Given the description of an element on the screen output the (x, y) to click on. 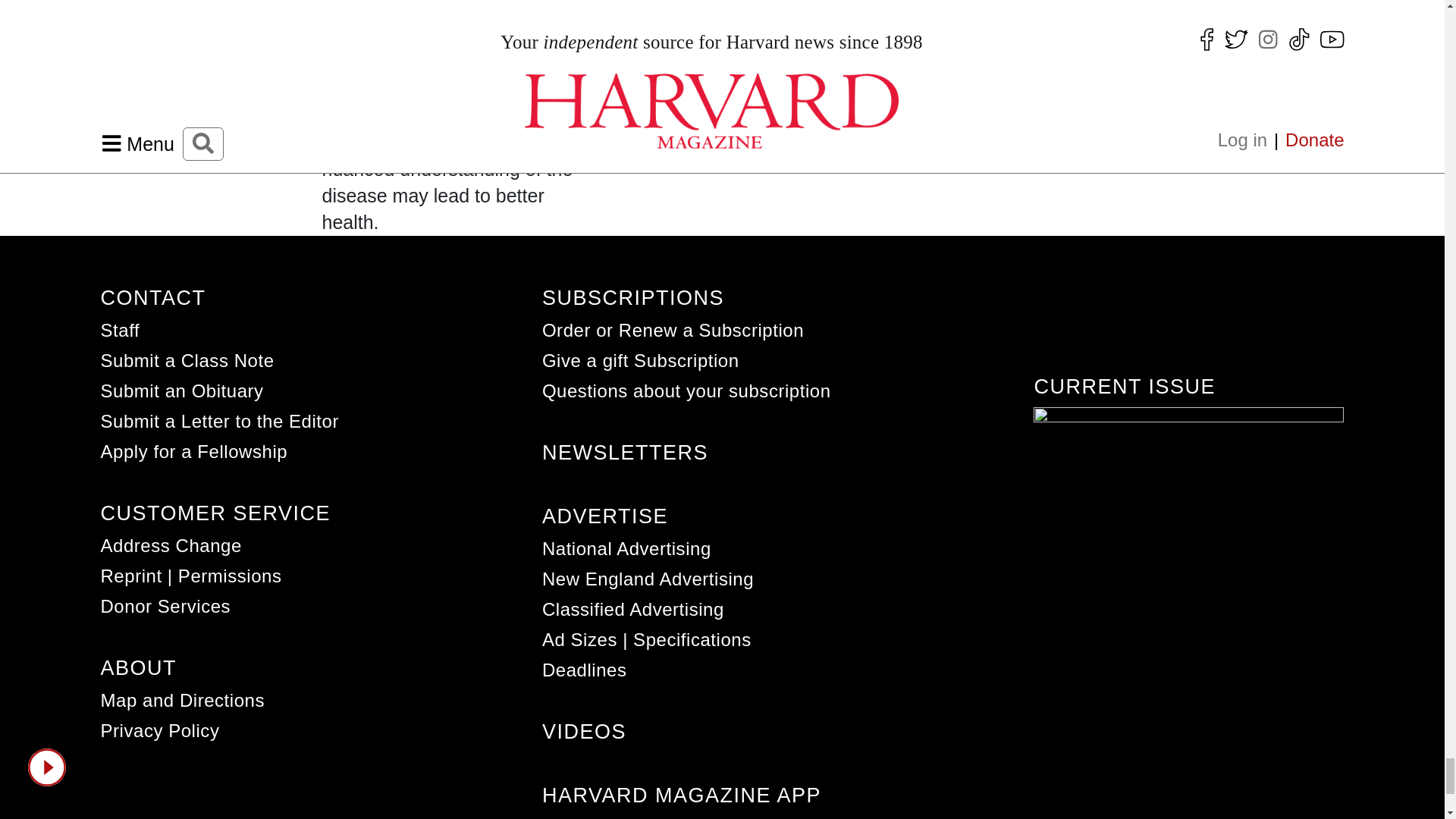
facebook (1098, 815)
